Given the description of an element on the screen output the (x, y) to click on. 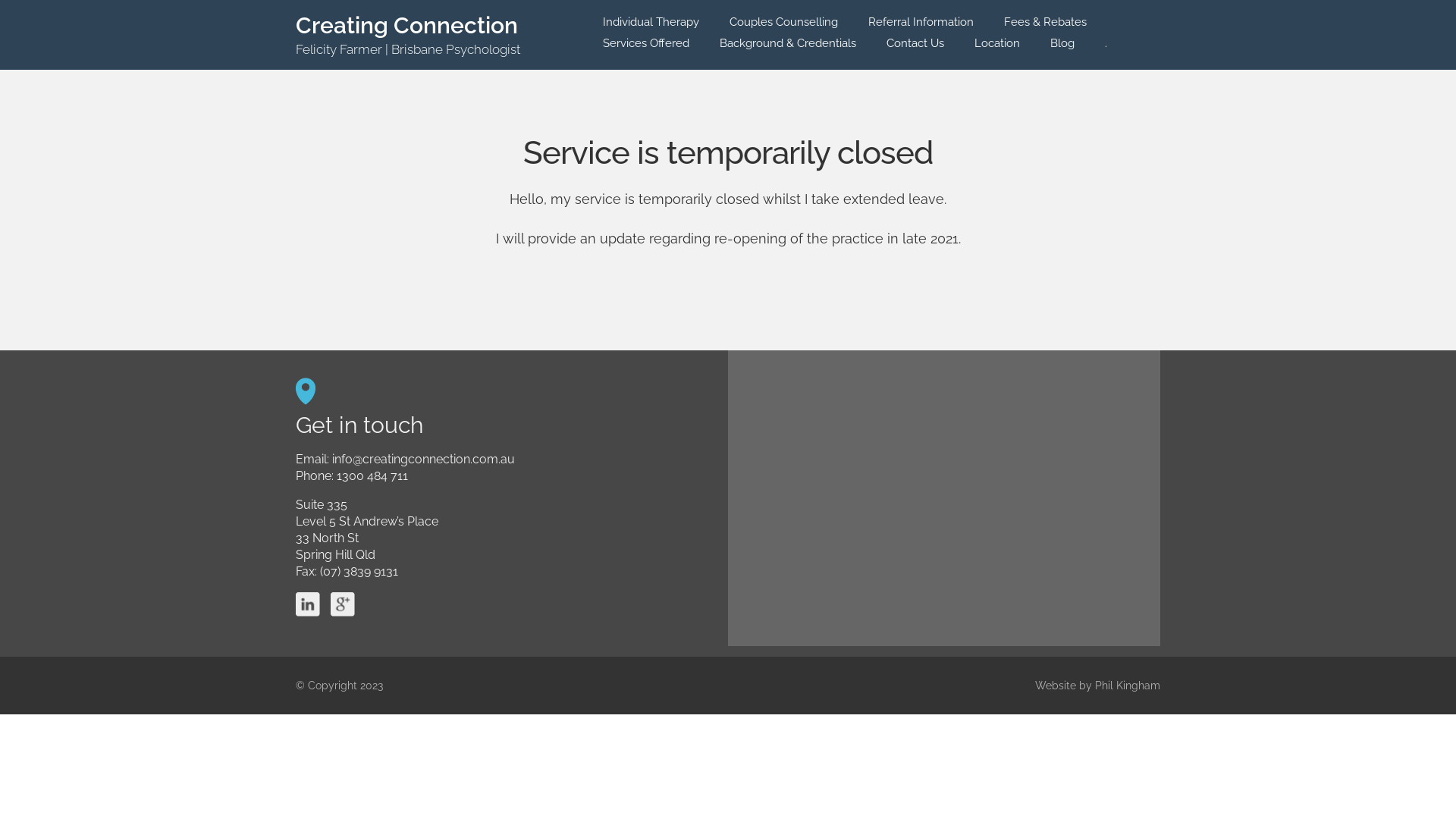
Couples Counselling Element type: text (783, 25)
Services Offered Element type: text (645, 46)
Website by Phil Kingham Element type: text (1097, 685)
Contact Us Element type: text (915, 46)
Blog Element type: text (1062, 46)
. Element type: text (1105, 46)
Location Element type: text (996, 46)
Referral Information Element type: text (920, 25)
Individual Therapy Element type: text (650, 25)
Background & Credentials Element type: text (787, 46)
Fees & Rebates Element type: text (1045, 25)
Creating Connection Element type: text (406, 25)
